Given the description of an element on the screen output the (x, y) to click on. 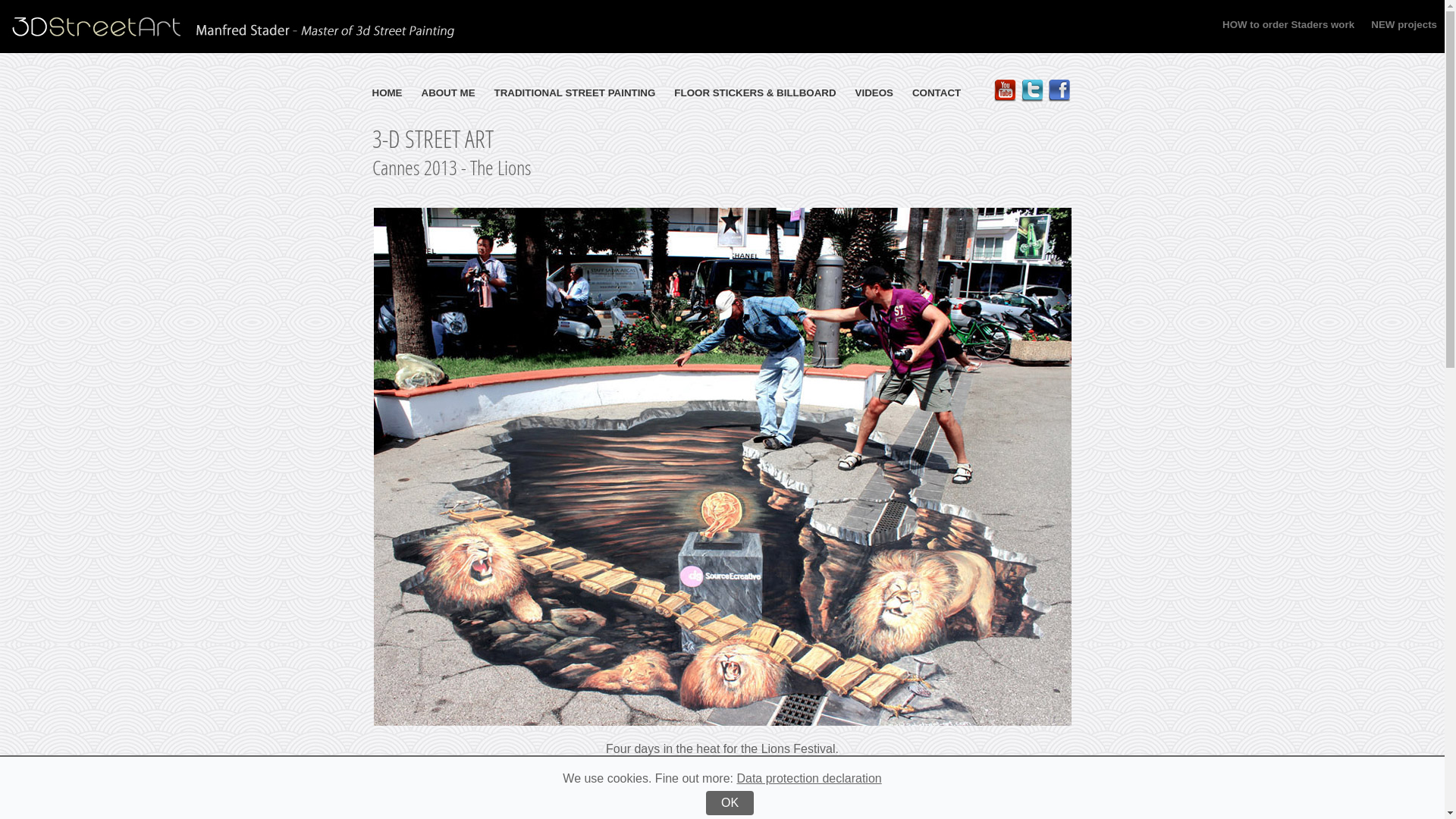
ABOUT ME Element type: text (448, 92)
     NEW projects Element type: text (1397, 24)
TRADITIONAL STREET PAINTING Element type: text (574, 92)
CONTACT Element type: text (936, 92)
HOME Element type: text (386, 92)
FLOOR STICKERS & BILLBOARD Element type: text (754, 92)
VIDEOS Element type: text (874, 92)
HOW to order Staders work Element type: text (1288, 24)
Data protection declaration Element type: text (808, 777)
